Given the description of an element on the screen output the (x, y) to click on. 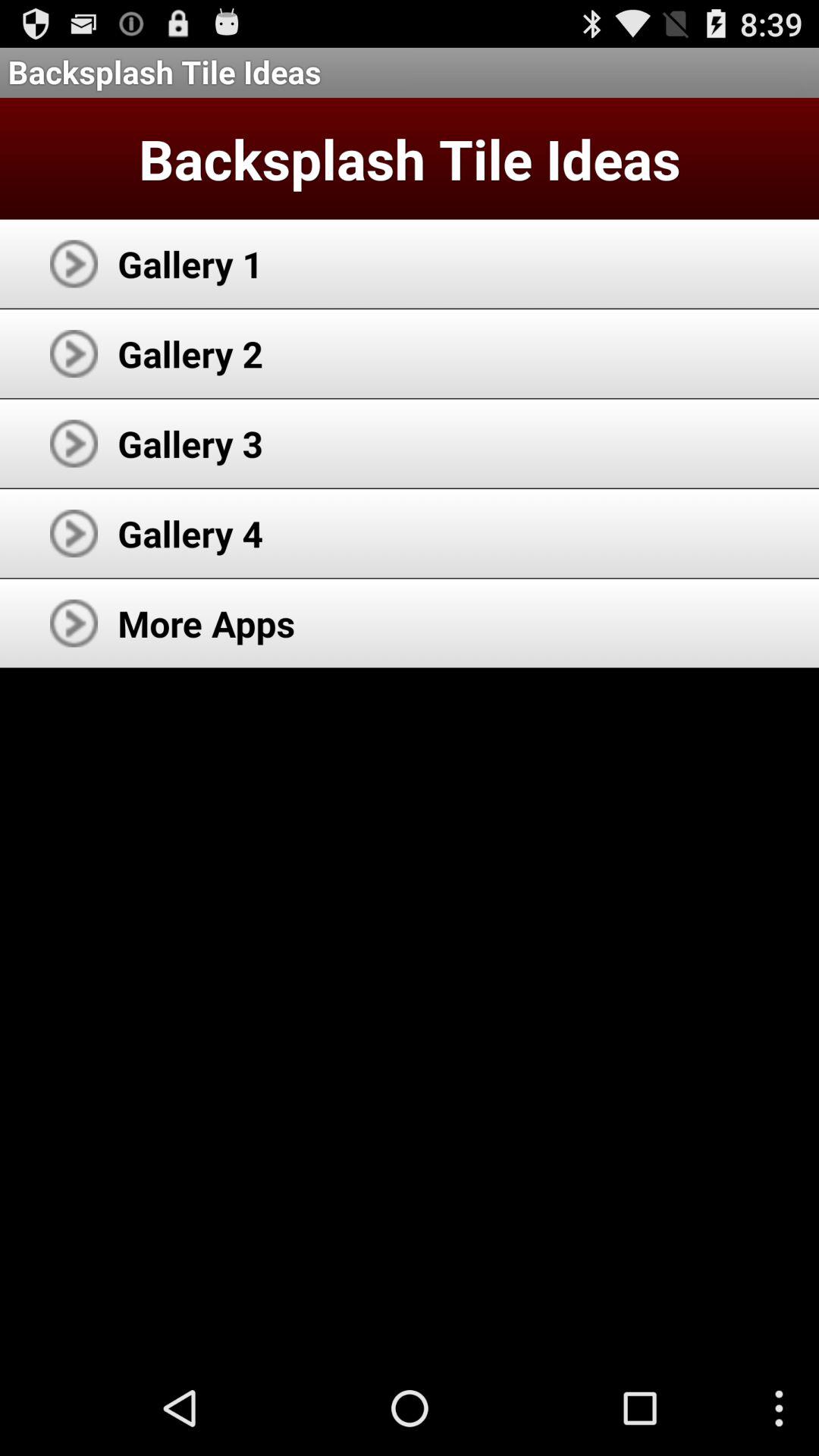
tap app above more apps icon (190, 533)
